Given the description of an element on the screen output the (x, y) to click on. 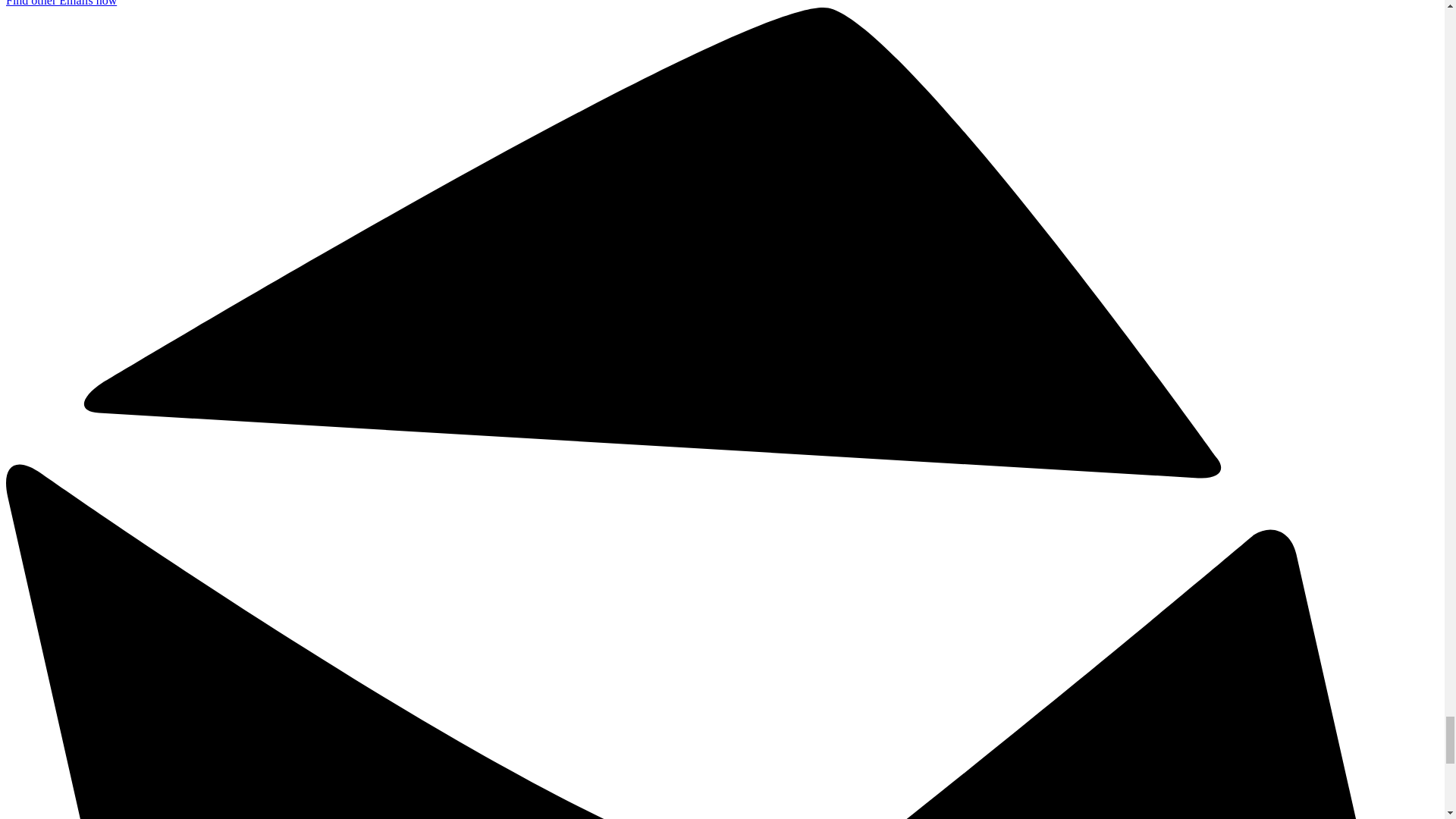
Find other Emails now (60, 3)
